Given the description of an element on the screen output the (x, y) to click on. 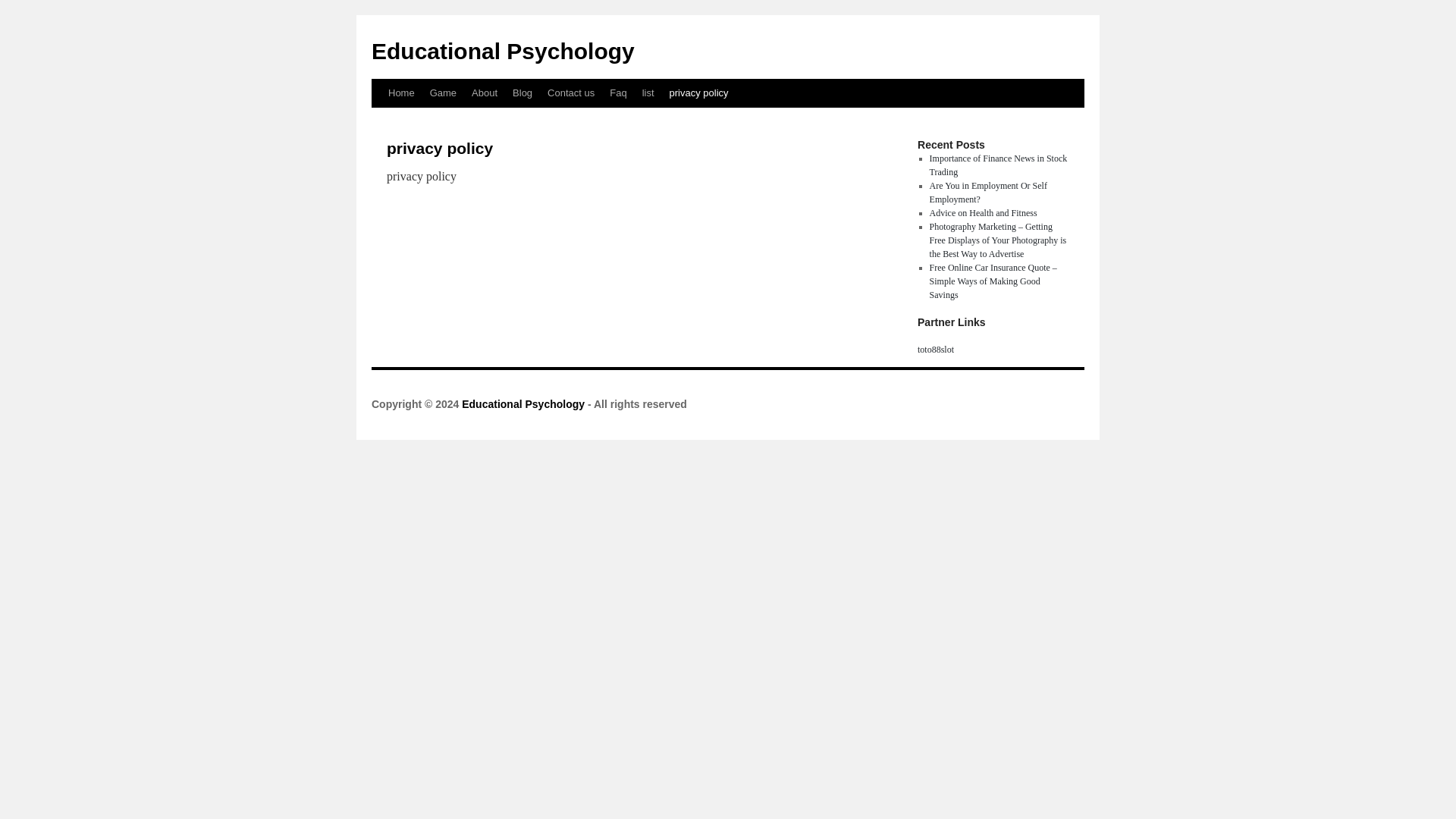
Game (443, 92)
Importance of Finance News in Stock Trading (998, 165)
About (484, 92)
Home (401, 92)
Blog (522, 92)
Advice on Health and Fitness (983, 213)
privacy policy (699, 92)
About (484, 92)
toto88slot (935, 348)
Blog (522, 92)
